Given the description of an element on the screen output the (x, y) to click on. 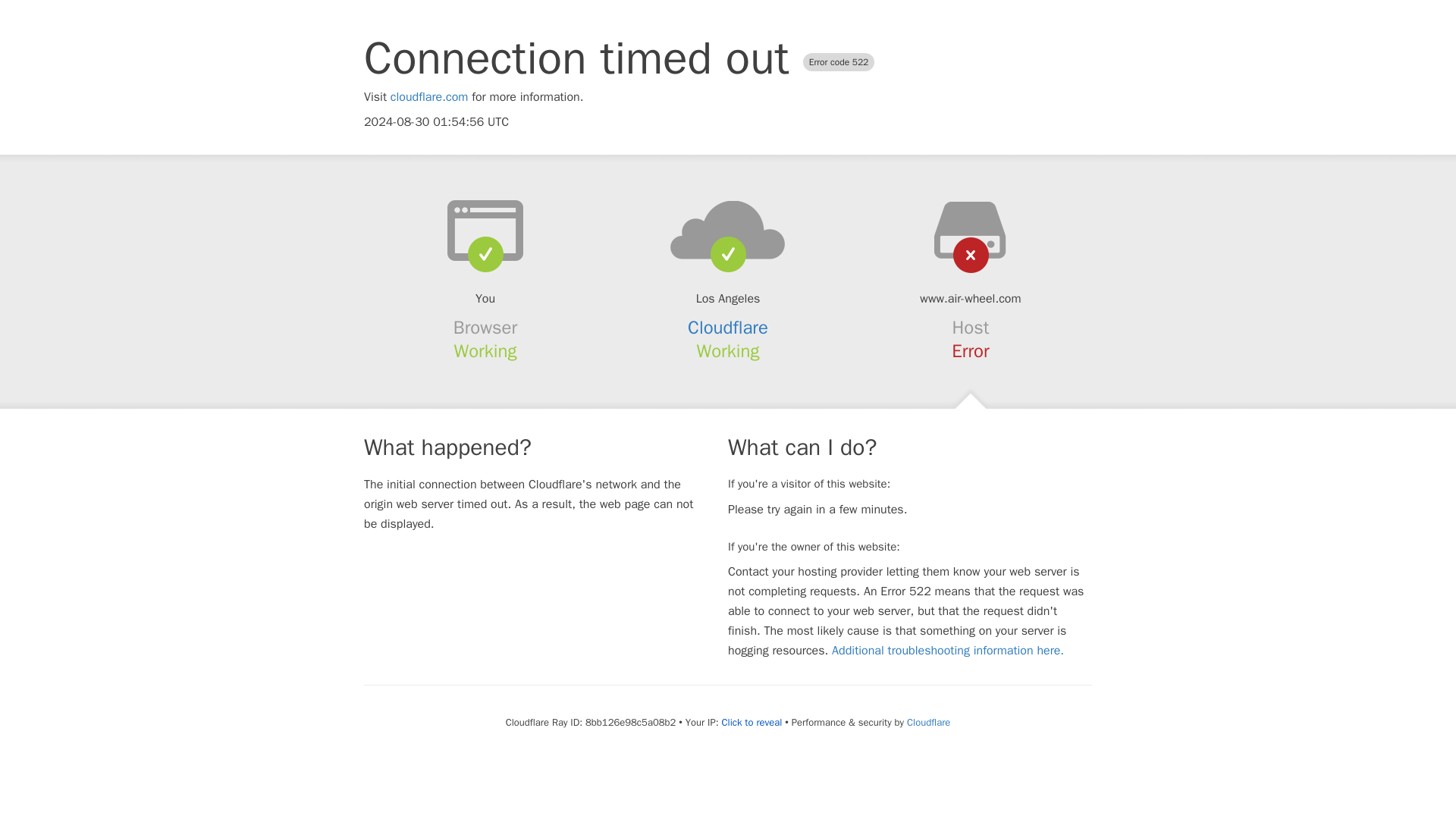
Cloudflare (928, 721)
cloudflare.com (429, 96)
Cloudflare (727, 327)
Additional troubleshooting information here. (947, 650)
Click to reveal (750, 722)
